Given the description of an element on the screen output the (x, y) to click on. 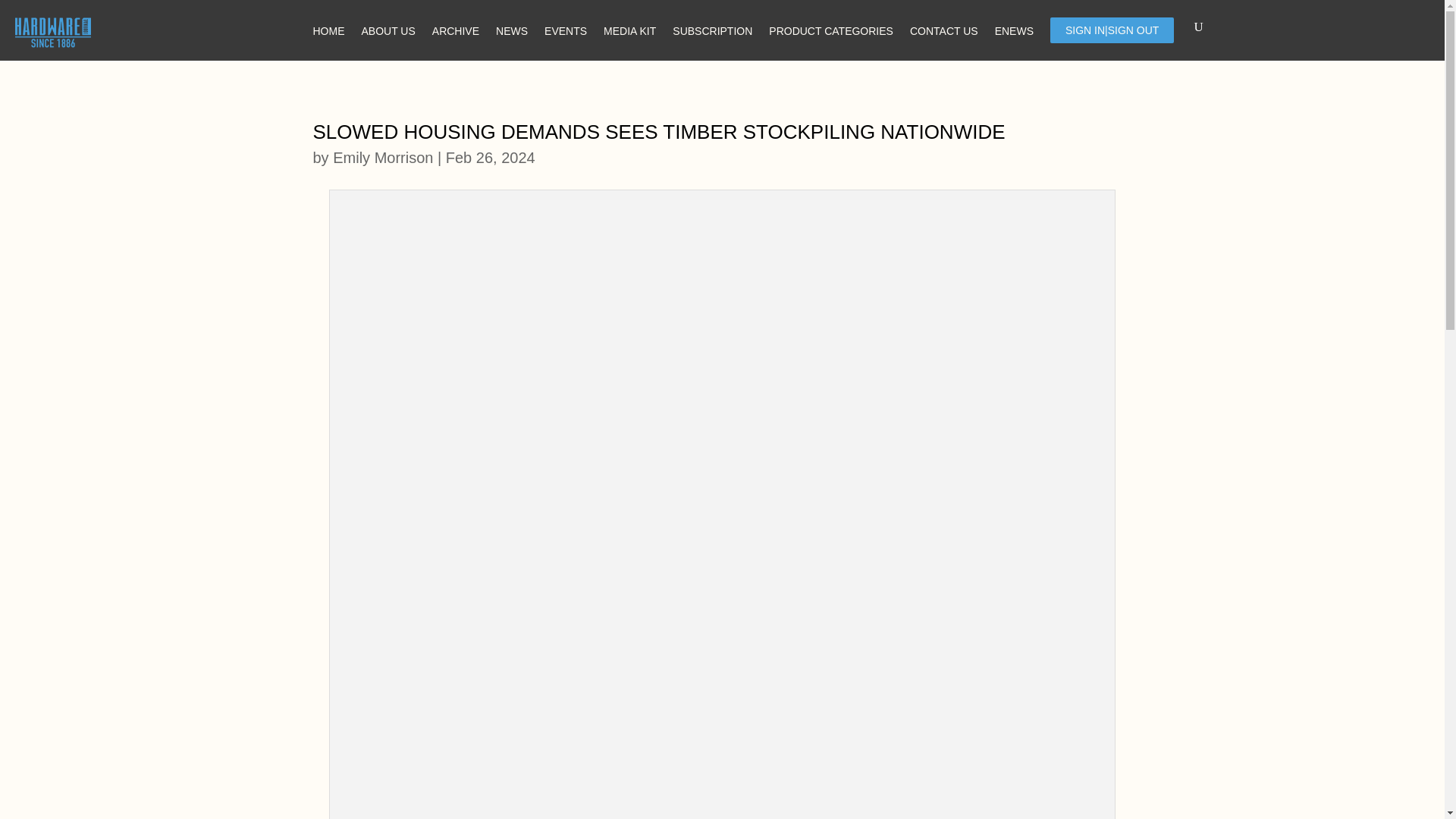
PRODUCT CATEGORIES (830, 29)
NEWS (511, 29)
CONTACT US (944, 29)
HOME (328, 29)
SUBSCRIPTION (712, 29)
Posts by Emily Morrison (382, 157)
ARCHIVE (455, 29)
ENEWS (1013, 29)
MEDIA KIT (630, 29)
ABOUT US (387, 29)
